Given the description of an element on the screen output the (x, y) to click on. 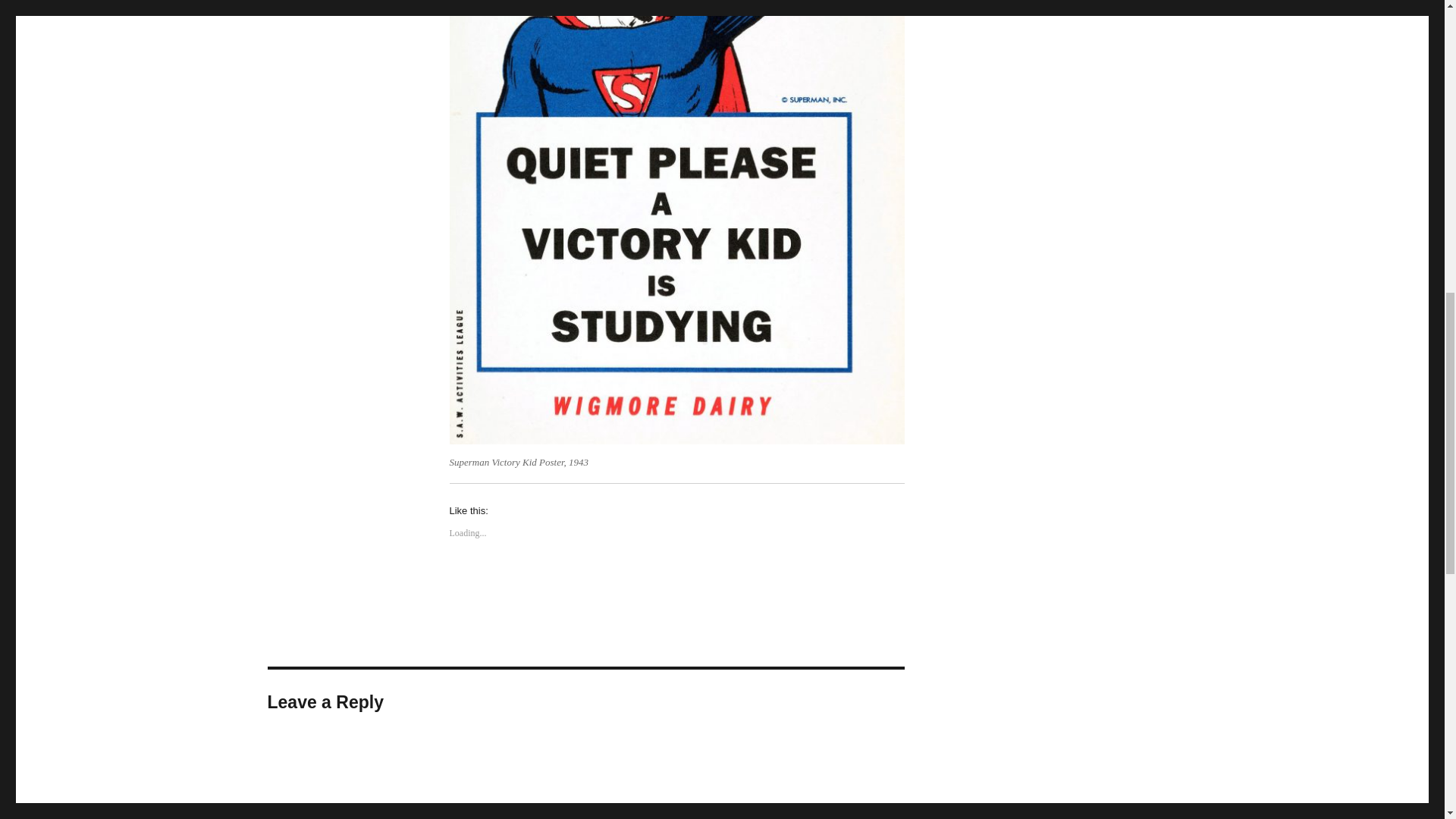
Comment Form (585, 776)
